Given the description of an element on the screen output the (x, y) to click on. 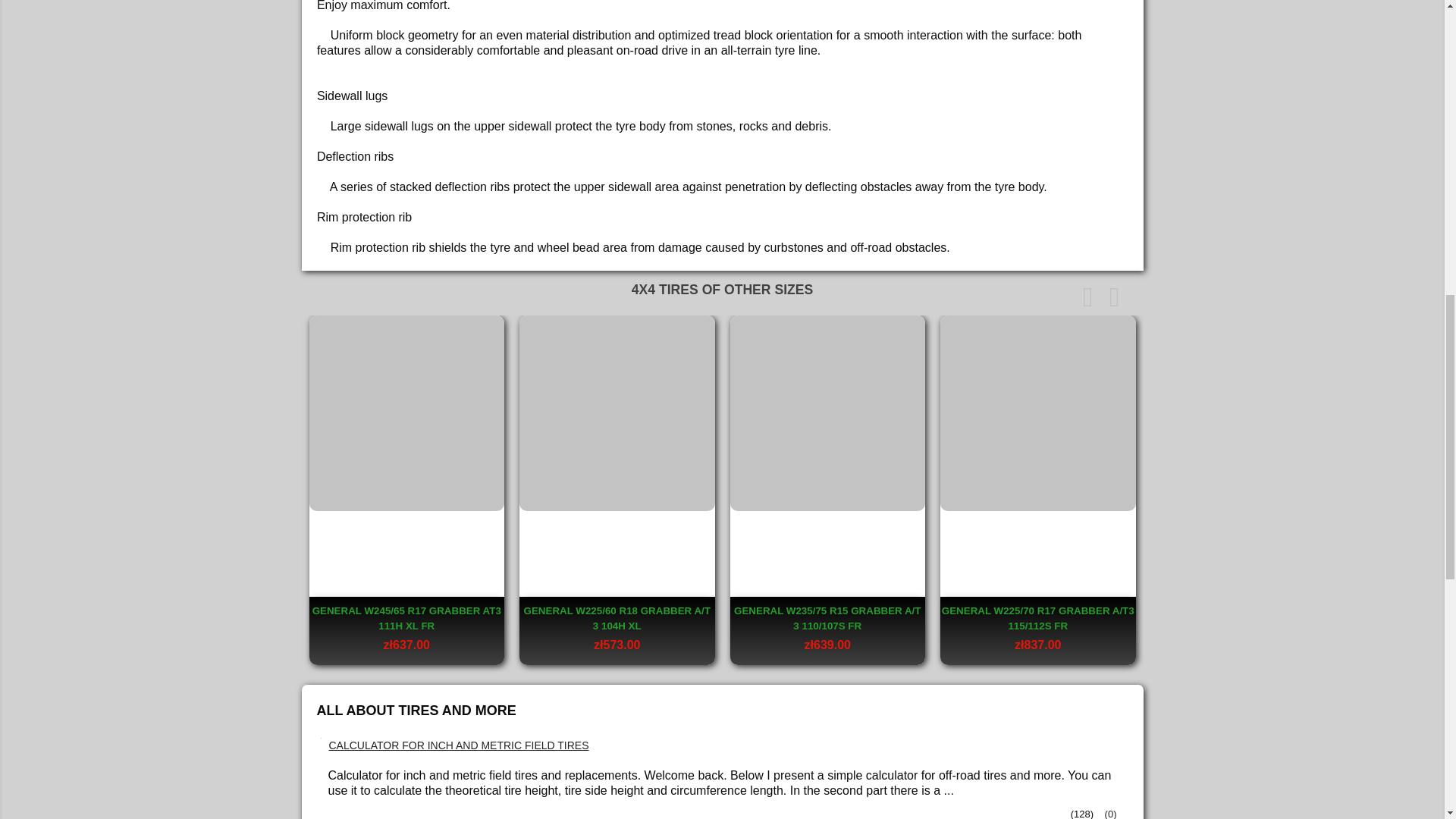
Calculator for inch and metric field tires (1109, 813)
Calculator for inch and metric field tires (459, 746)
